Given the description of an element on the screen output the (x, y) to click on. 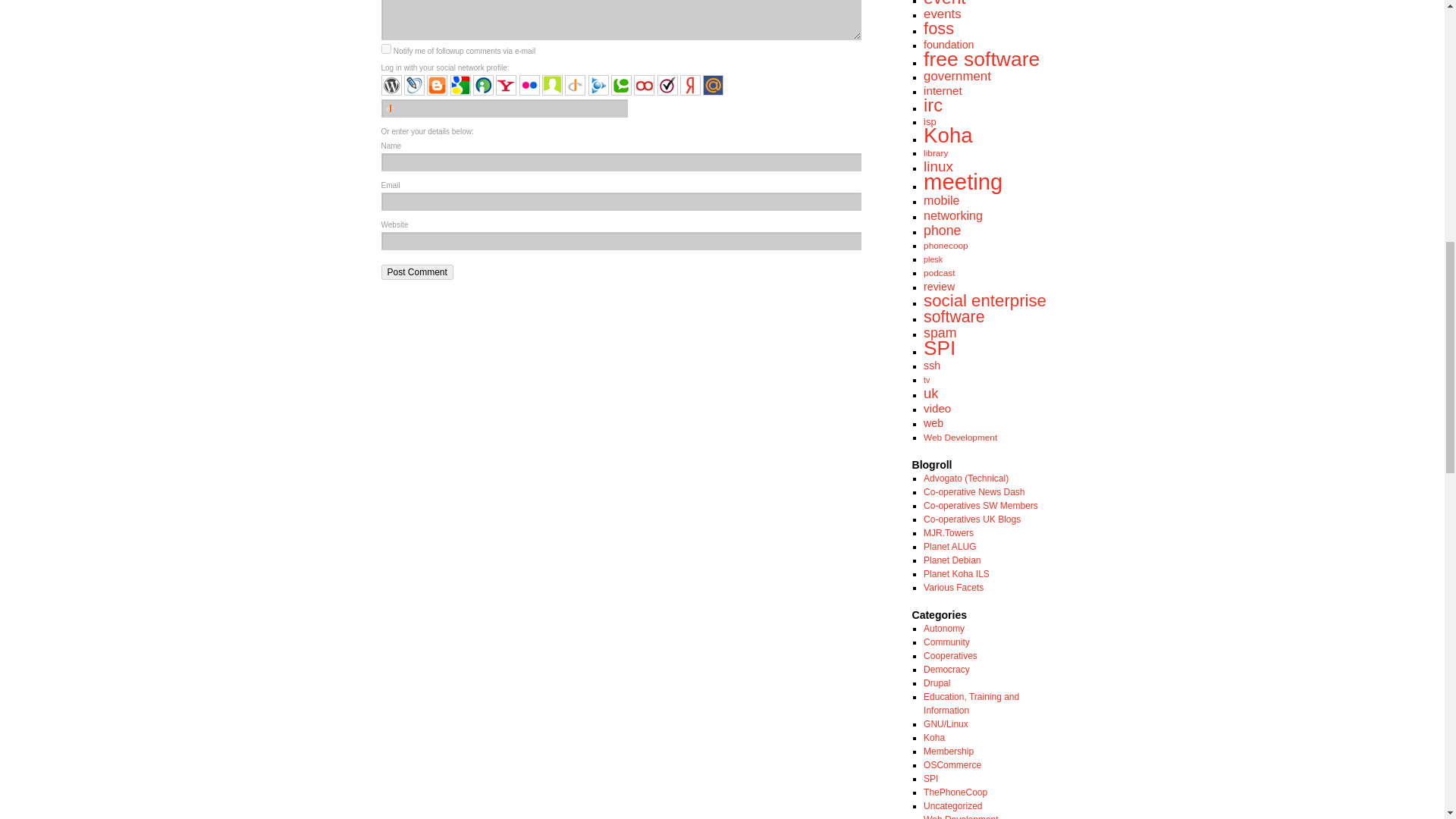
Yahoo (506, 85)
OpenID (574, 85)
LiveJournal (414, 85)
Flickr (529, 85)
Wordpress (390, 85)
claimId (551, 85)
Blogger (436, 85)
subscribe (385, 49)
myOpenId (483, 85)
Google (459, 85)
Post Comment (416, 272)
